Given the description of an element on the screen output the (x, y) to click on. 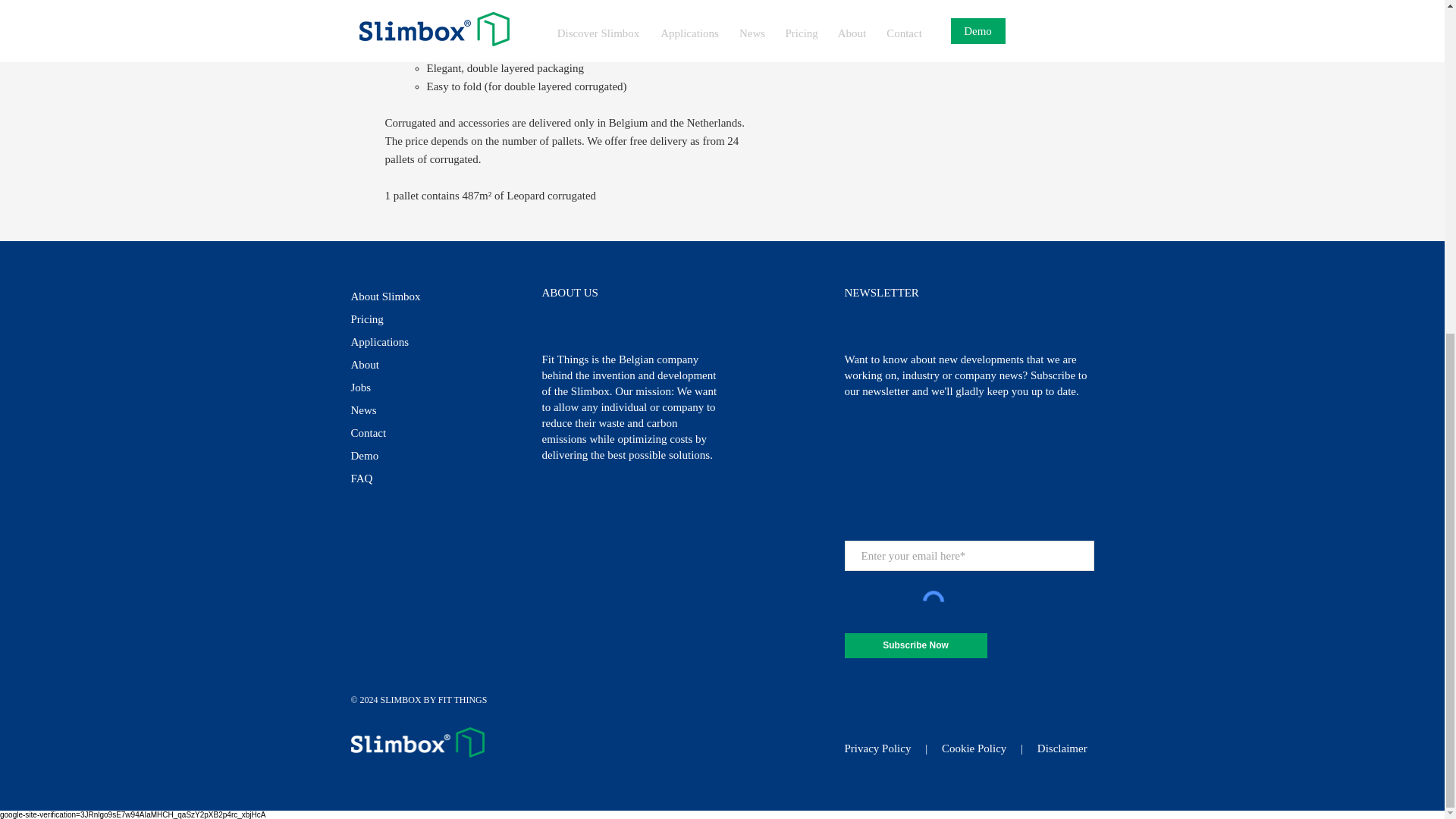
Applications (379, 341)
Contact (367, 432)
Pricing (366, 318)
FAQ (361, 478)
About Slimbox (385, 296)
Jobs (360, 387)
Demo (364, 455)
Cookie Policy (974, 748)
News (362, 410)
About (364, 364)
Privacy Policy (877, 748)
Disclaimer (1061, 748)
Subscribe Now (915, 645)
